Given the description of an element on the screen output the (x, y) to click on. 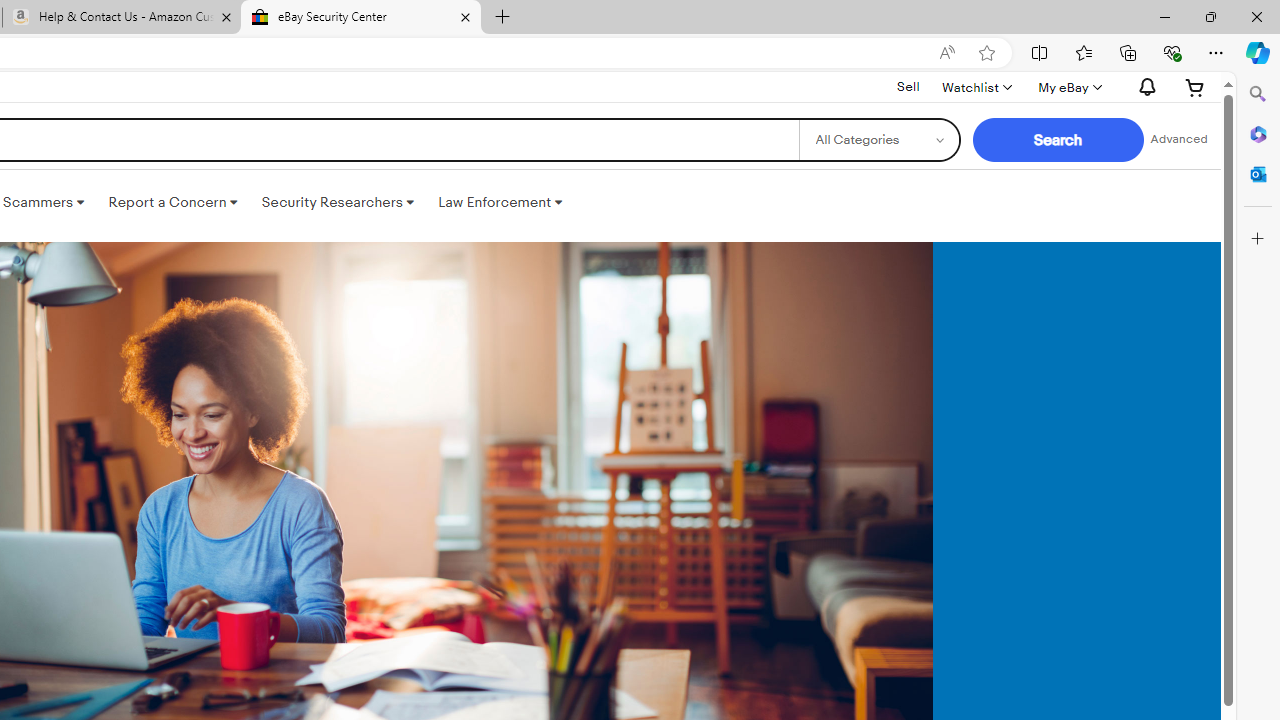
My eBay (1068, 87)
Report a Concern  (173, 202)
Search (1258, 94)
Select a category for search (877, 139)
AutomationID: gh-eb-Alerts (1144, 87)
Law Enforcement  (500, 202)
Law Enforcement  (500, 202)
Expand Cart (1195, 87)
Watchlist (975, 87)
eBay Security Center (360, 17)
